Given the description of an element on the screen output the (x, y) to click on. 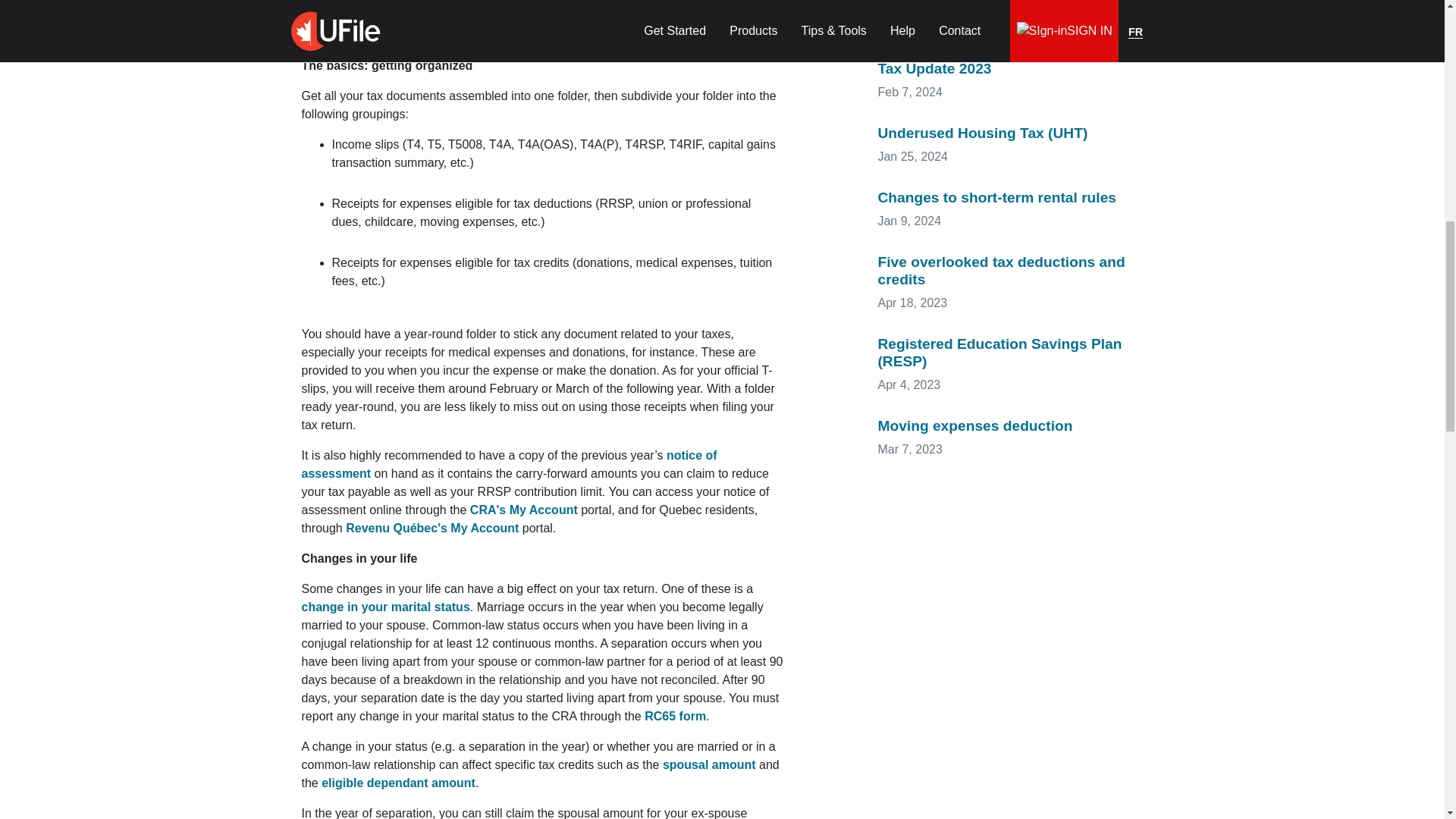
change in your marital status (385, 606)
spousal amount (708, 764)
CRA's My Account (524, 509)
RC65 form (675, 716)
notice of assessment (509, 463)
